Given the description of an element on the screen output the (x, y) to click on. 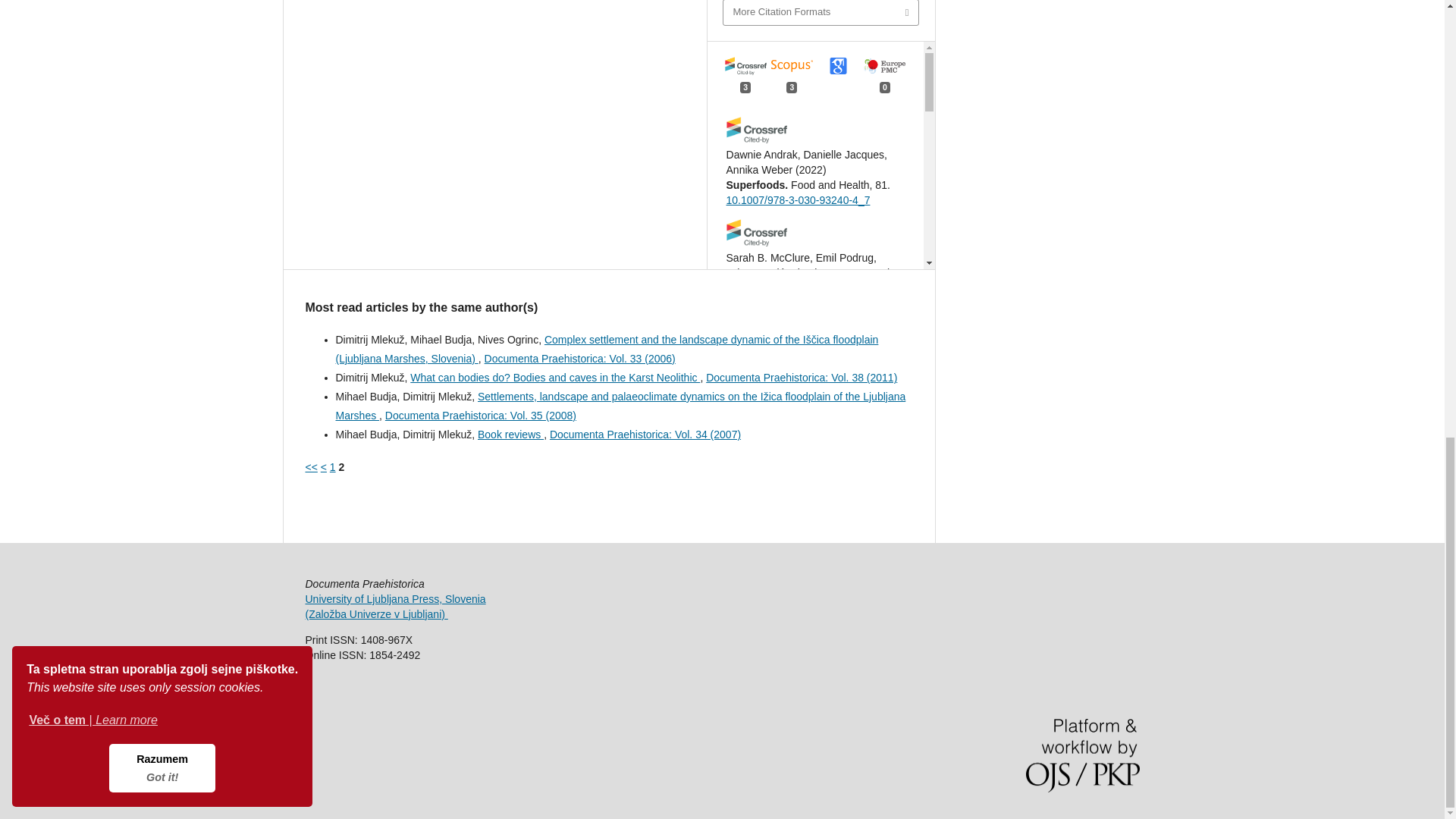
More Citation Formats (820, 12)
